Given the description of an element on the screen output the (x, y) to click on. 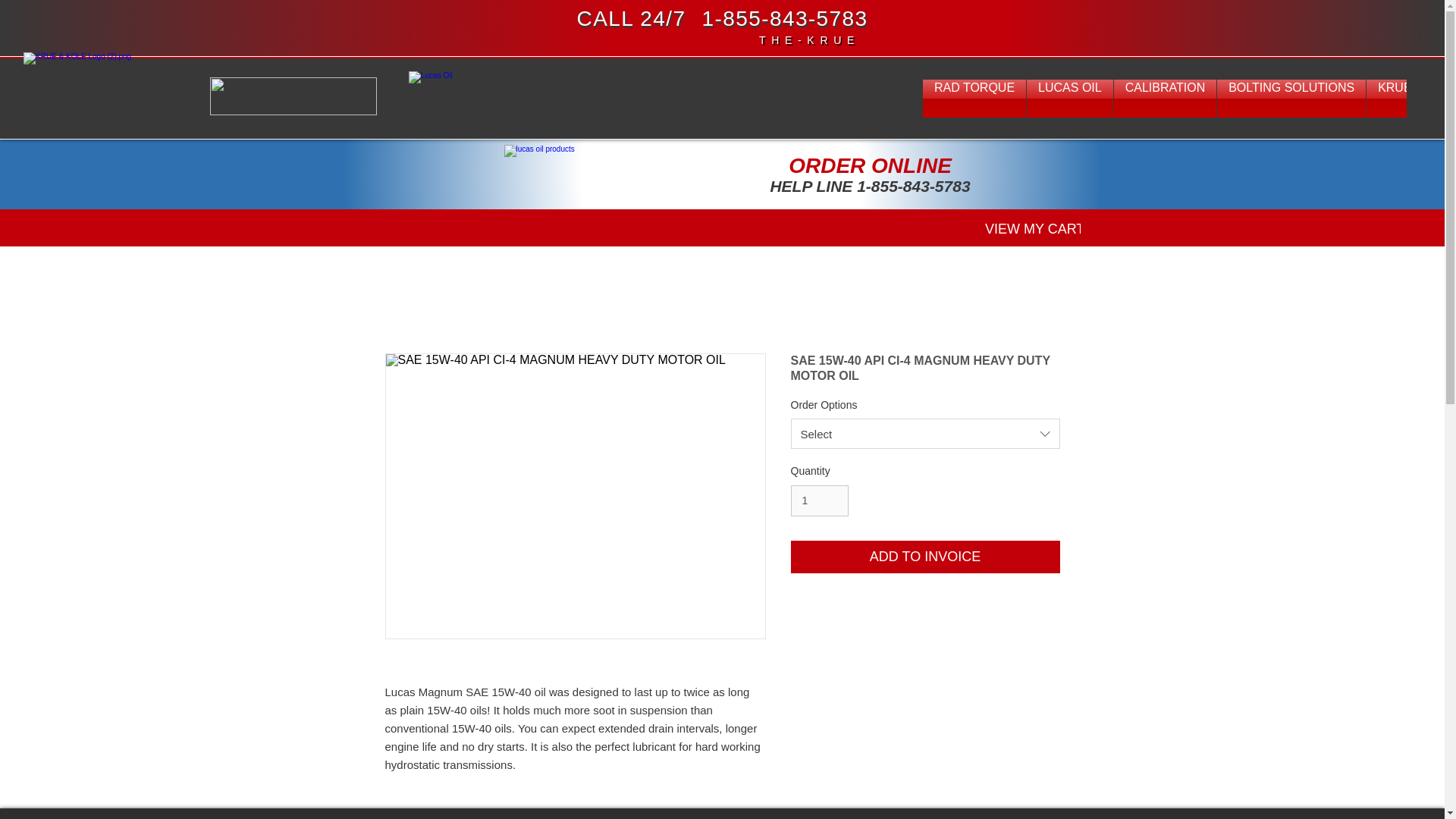
1 (818, 500)
LUCAS OIL (1069, 98)
KRUEtv (1399, 98)
RAD TORQUE (974, 98)
VIEW MY CART (1032, 228)
Select (924, 433)
ADD TO INVOICE (924, 556)
VIEW MY CART (1032, 228)
CALIBRATION (1165, 98)
BOLTING SOLUTIONS (1291, 98)
